Given the description of an element on the screen output the (x, y) to click on. 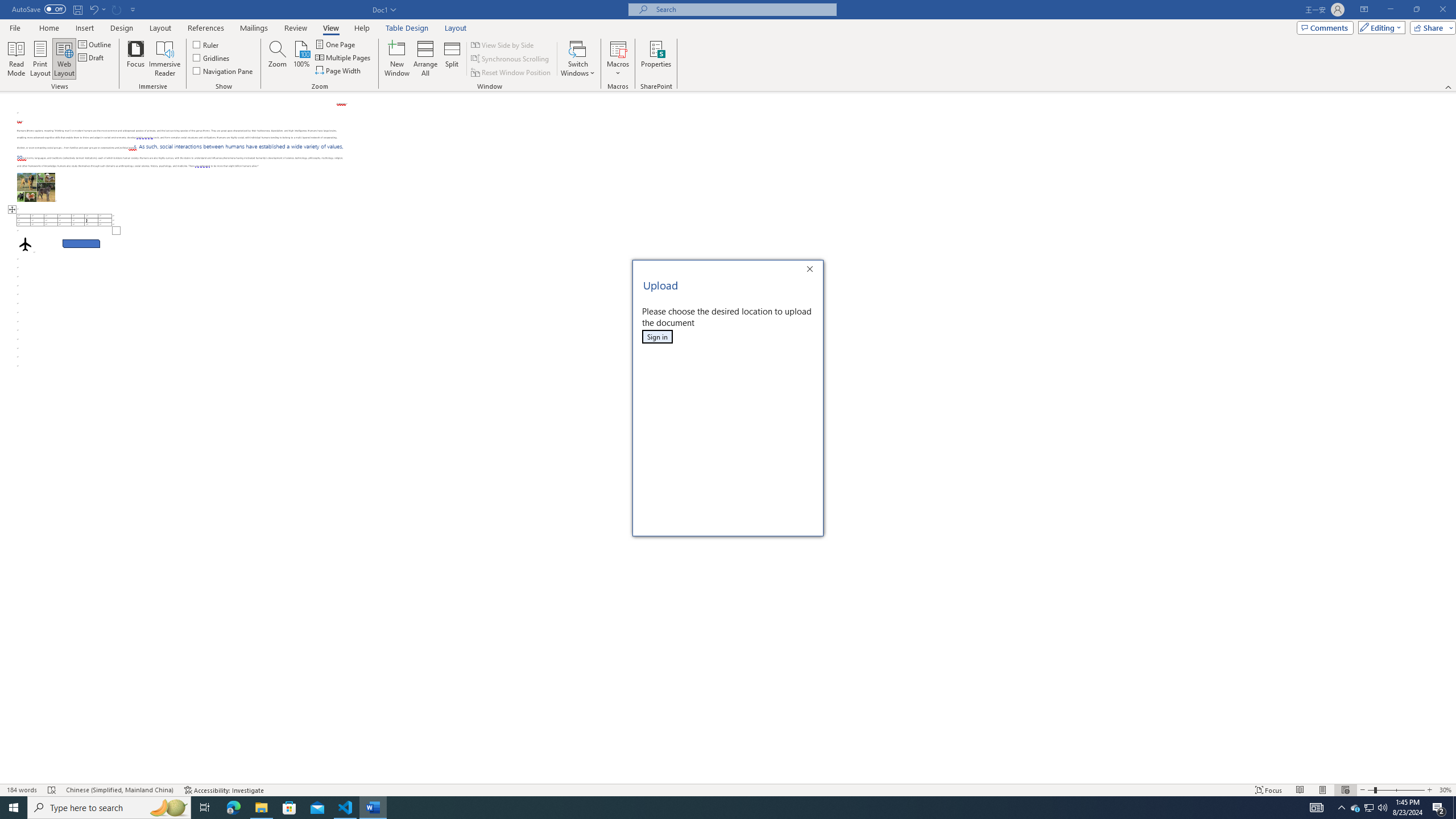
Synchronous Scrolling (510, 58)
Can't Repeat (117, 9)
Zoom 30% (1445, 790)
Switch Windows (577, 58)
Undo Row Height Spinner (96, 9)
Outline (95, 44)
Focus (135, 58)
